Given the description of an element on the screen output the (x, y) to click on. 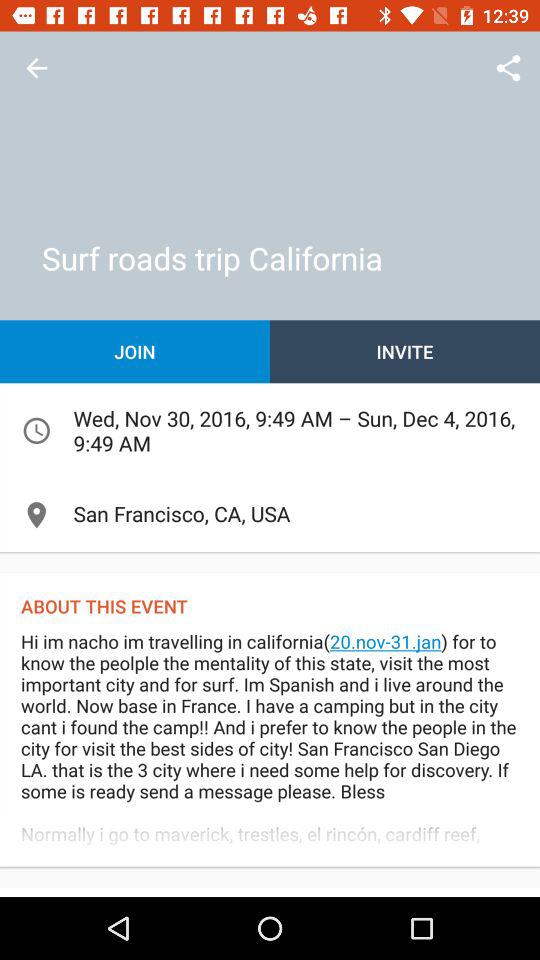
tap the san francisco ca (270, 514)
